Given the description of an element on the screen output the (x, y) to click on. 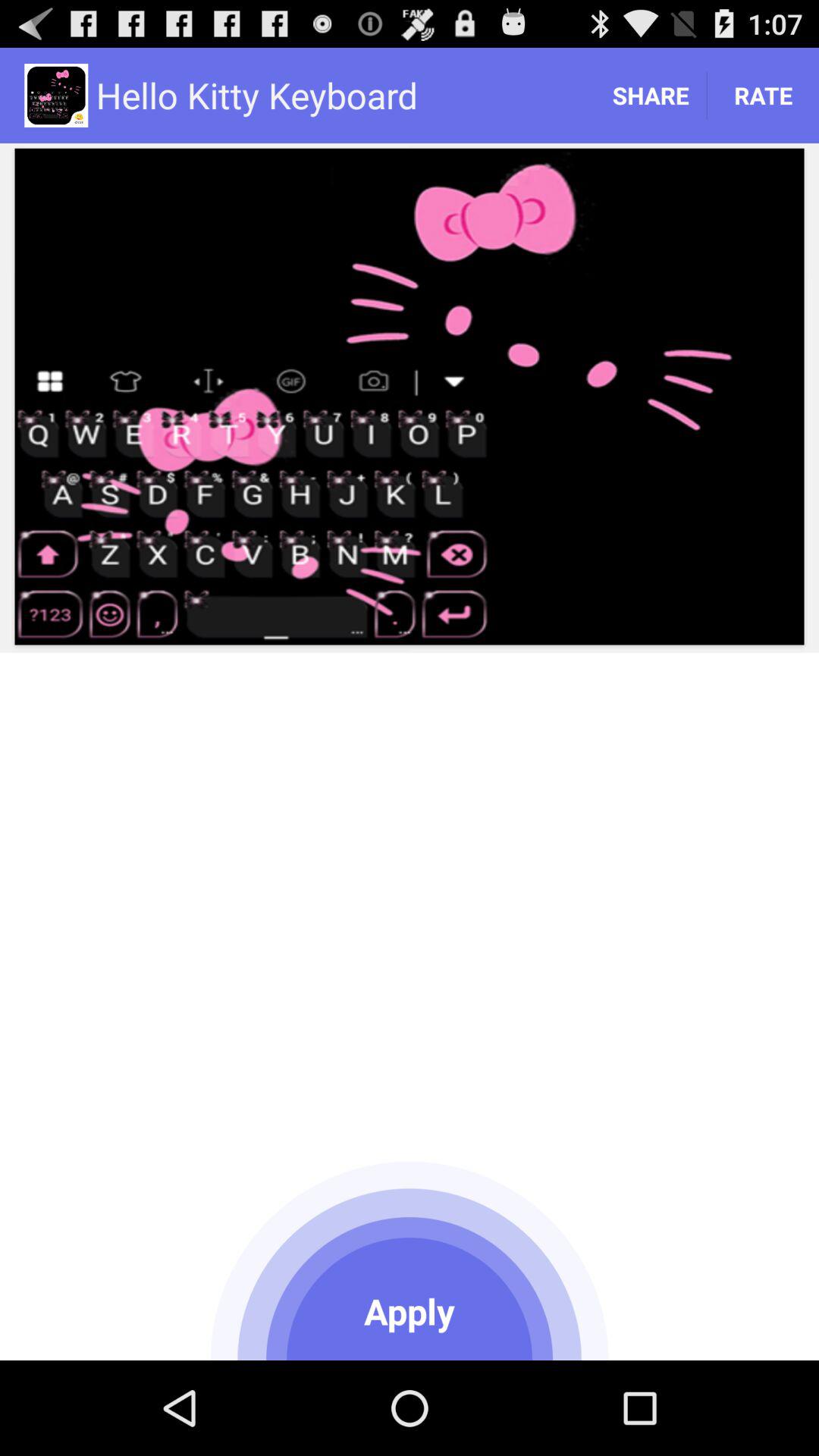
press icon at the bottom (409, 1257)
